Given the description of an element on the screen output the (x, y) to click on. 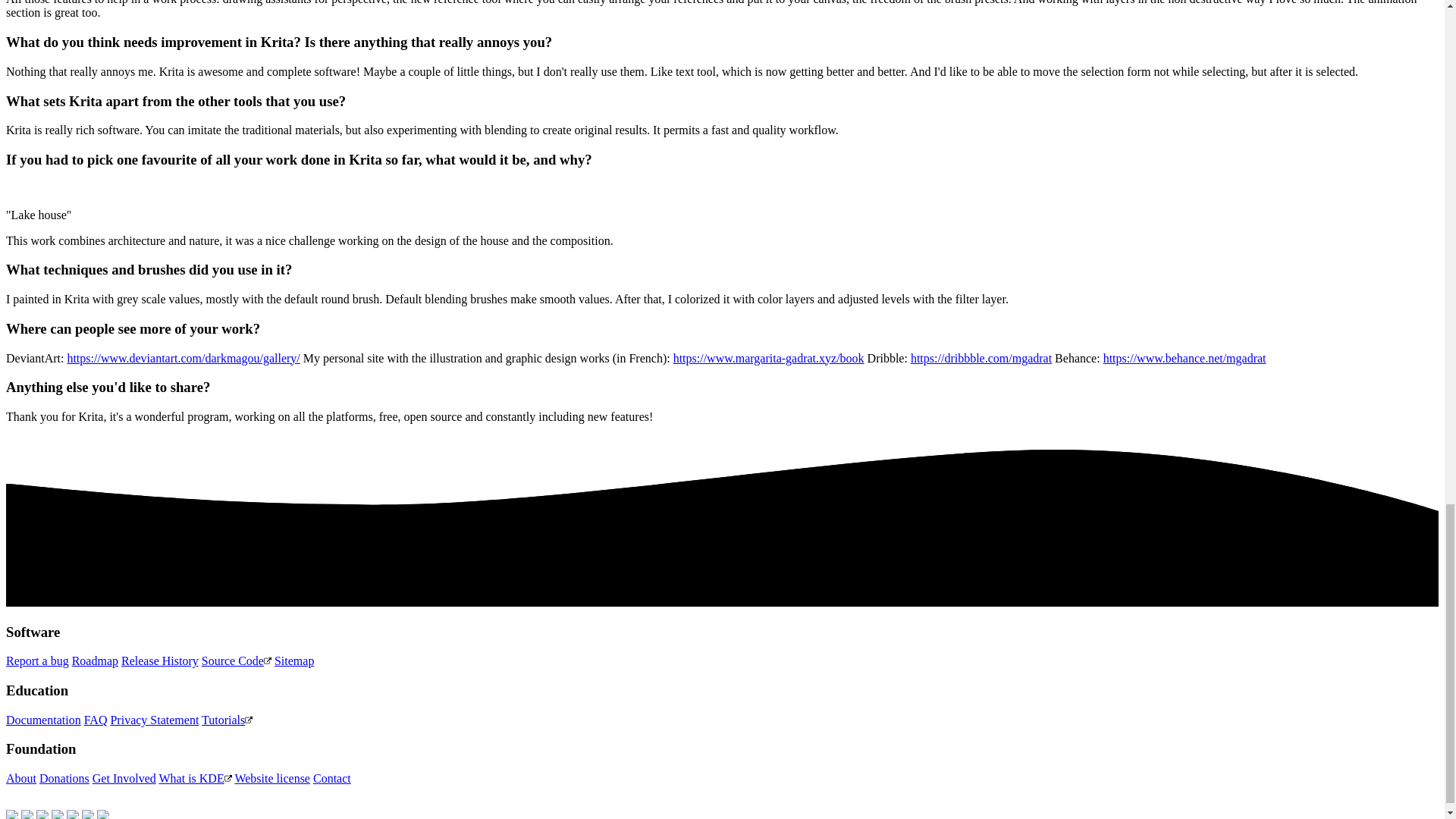
What is KDE (194, 778)
Privacy Statement (154, 719)
Report a bug (36, 660)
Get Involved (124, 778)
Donations (63, 778)
Sitemap (294, 660)
Source Code (236, 660)
Roadmap (94, 660)
About (20, 778)
Documentation (43, 719)
